Given the description of an element on the screen output the (x, y) to click on. 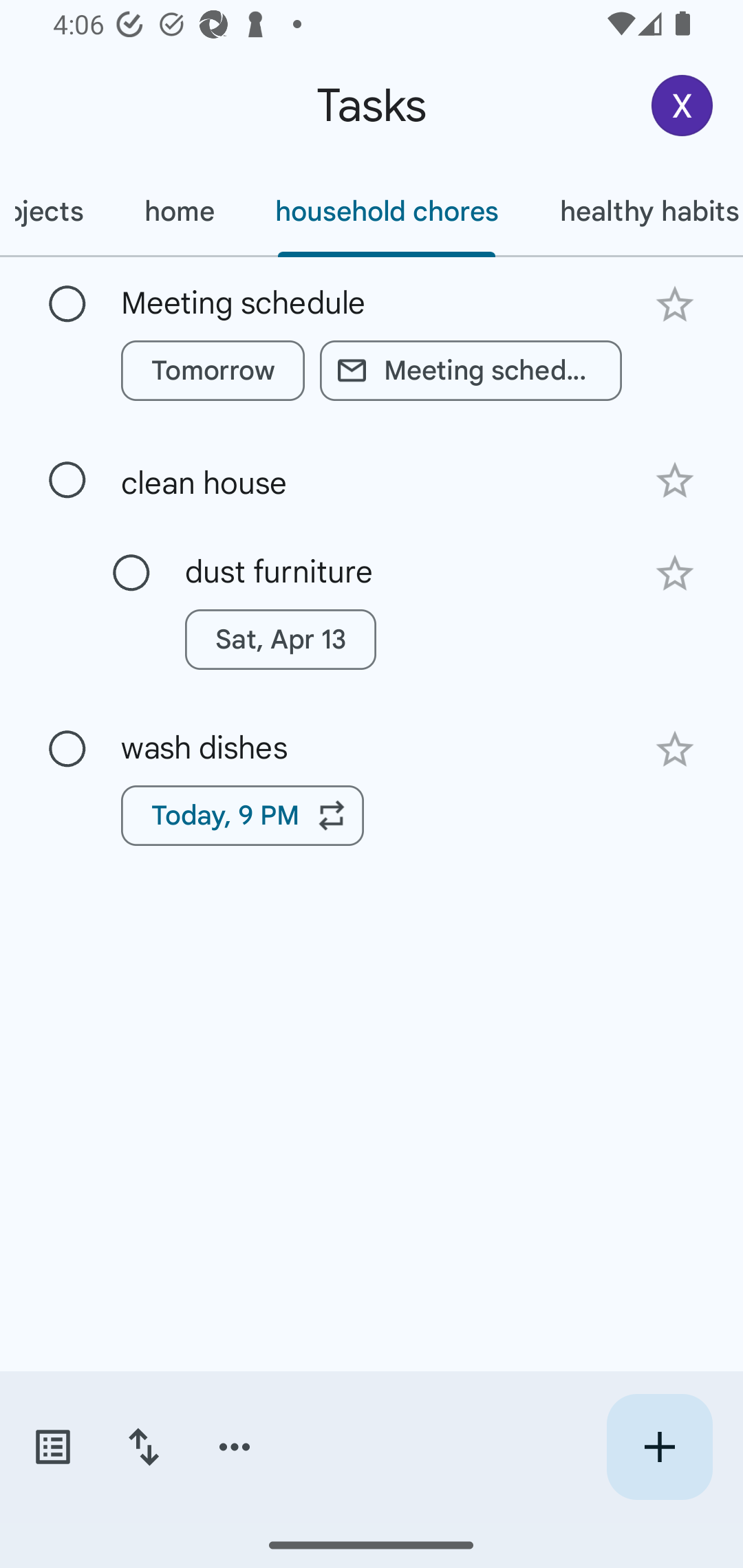
projects (56, 211)
home (178, 211)
healthy habits (636, 211)
Add star (674, 303)
Mark as complete (67, 304)
Tomorrow (212, 369)
Meeting schedule Related link (470, 369)
Add star (674, 480)
Mark as complete (67, 480)
Add star (674, 573)
Mark as complete (131, 572)
Sat, Apr 13 (280, 639)
Add star (674, 749)
Mark as complete (67, 750)
Today, 9 PM (242, 814)
Switch task lists (52, 1447)
Create new task (659, 1446)
Change sort order (143, 1446)
More options (234, 1446)
